Given the description of an element on the screen output the (x, y) to click on. 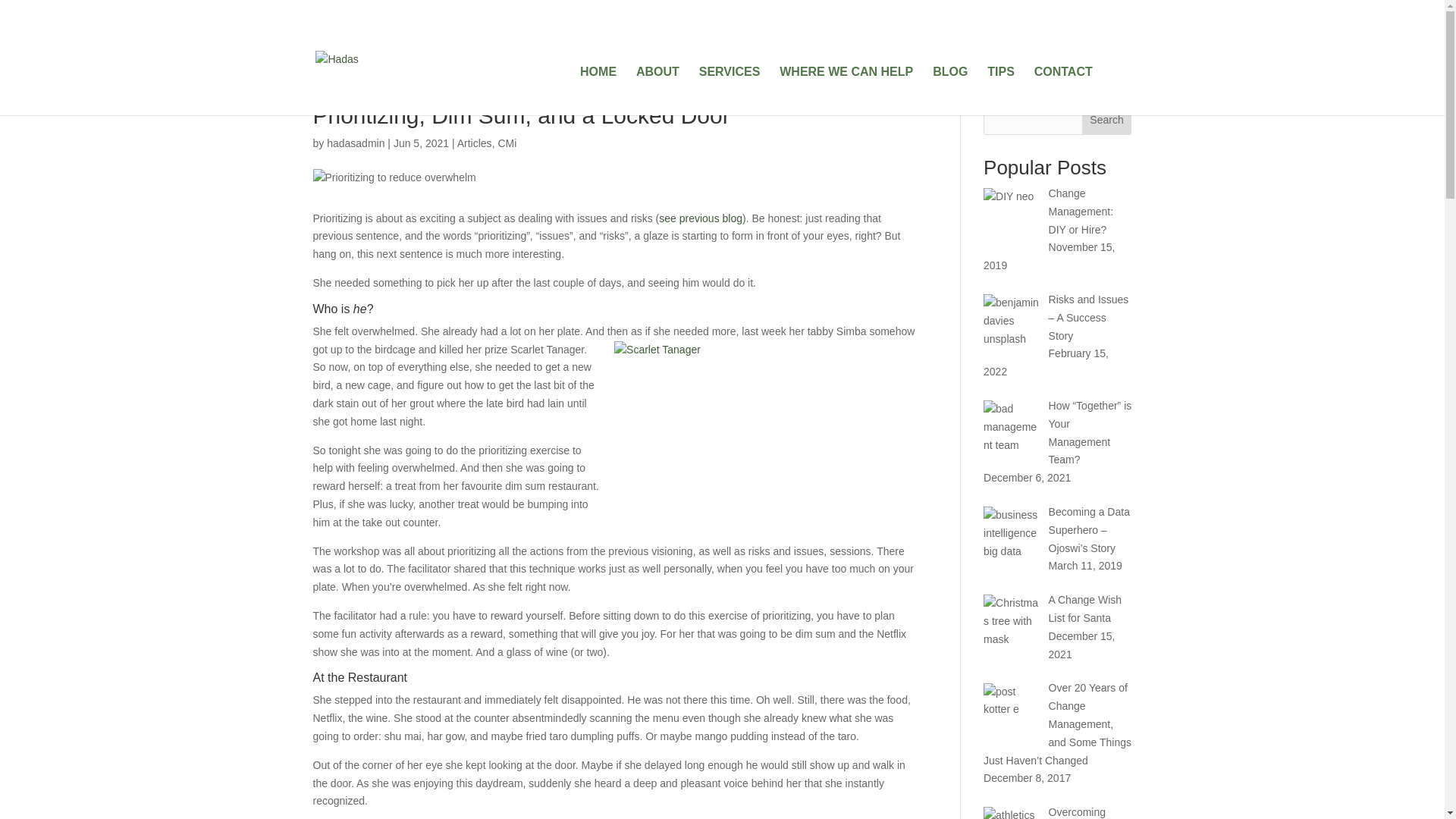
ABOUT (657, 90)
Articles (474, 143)
CONTACT (1063, 90)
CMi (506, 143)
see previous blog (700, 218)
Search (1106, 119)
SERVICES (729, 90)
A Change Wish List for Santa (1085, 608)
WHERE WE CAN HELP (845, 90)
Posts by hadasadmin (355, 143)
